Given the description of an element on the screen output the (x, y) to click on. 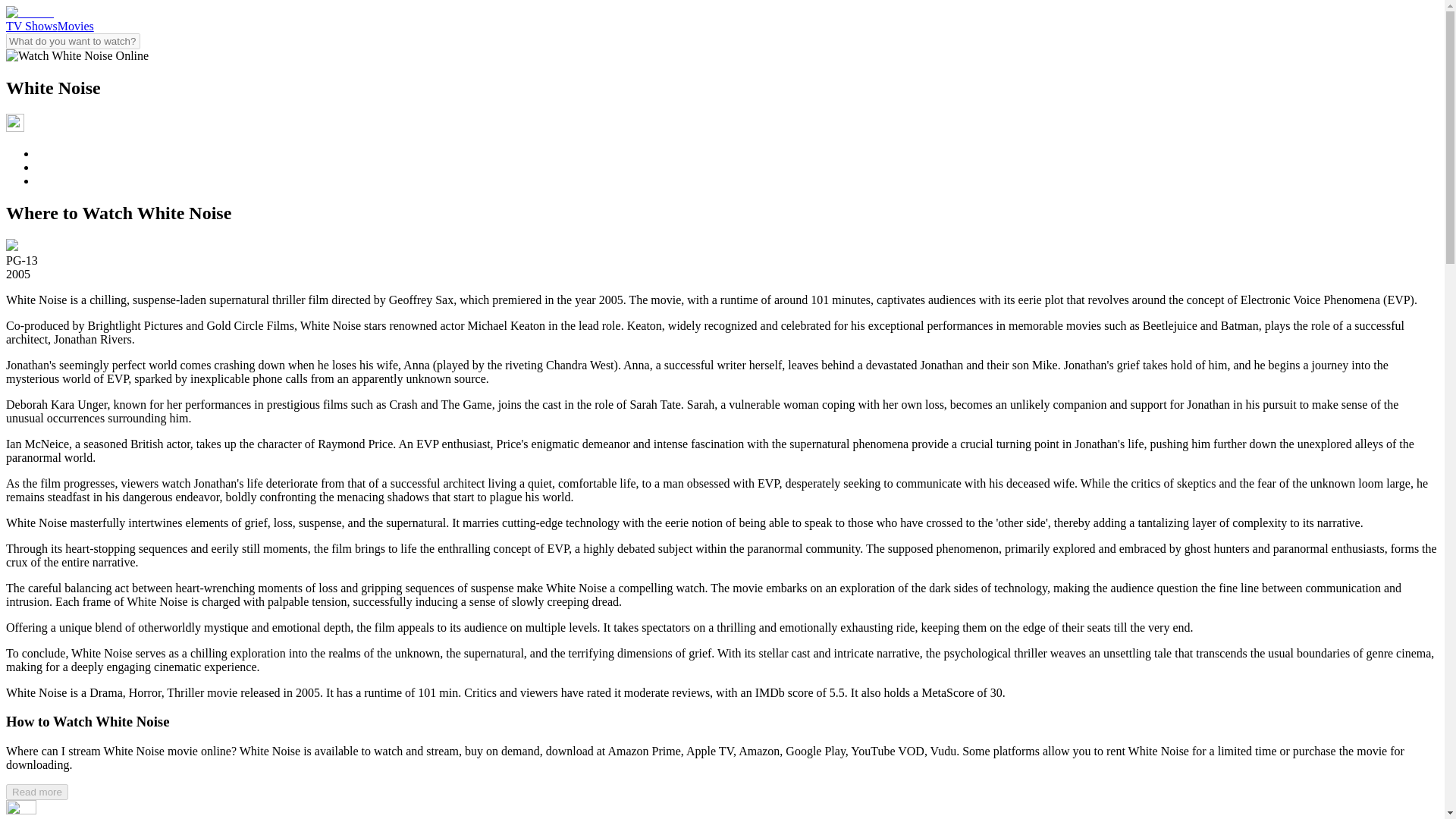
Read more (36, 791)
TV Shows (31, 25)
Movies (76, 25)
